Given the description of an element on the screen output the (x, y) to click on. 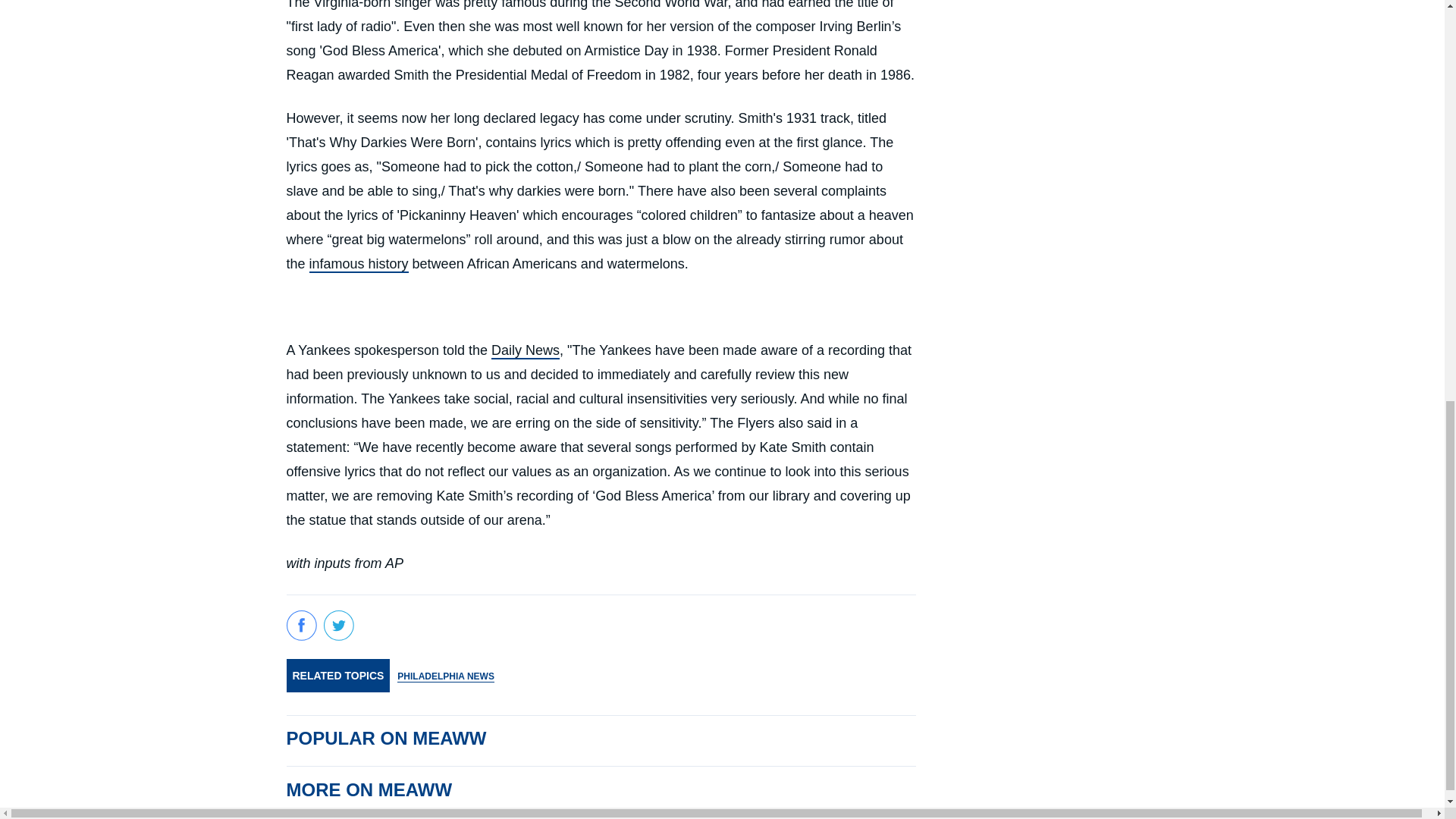
infamous history (358, 264)
PHILADELPHIA NEWS (446, 676)
Daily News (525, 351)
